Given the description of an element on the screen output the (x, y) to click on. 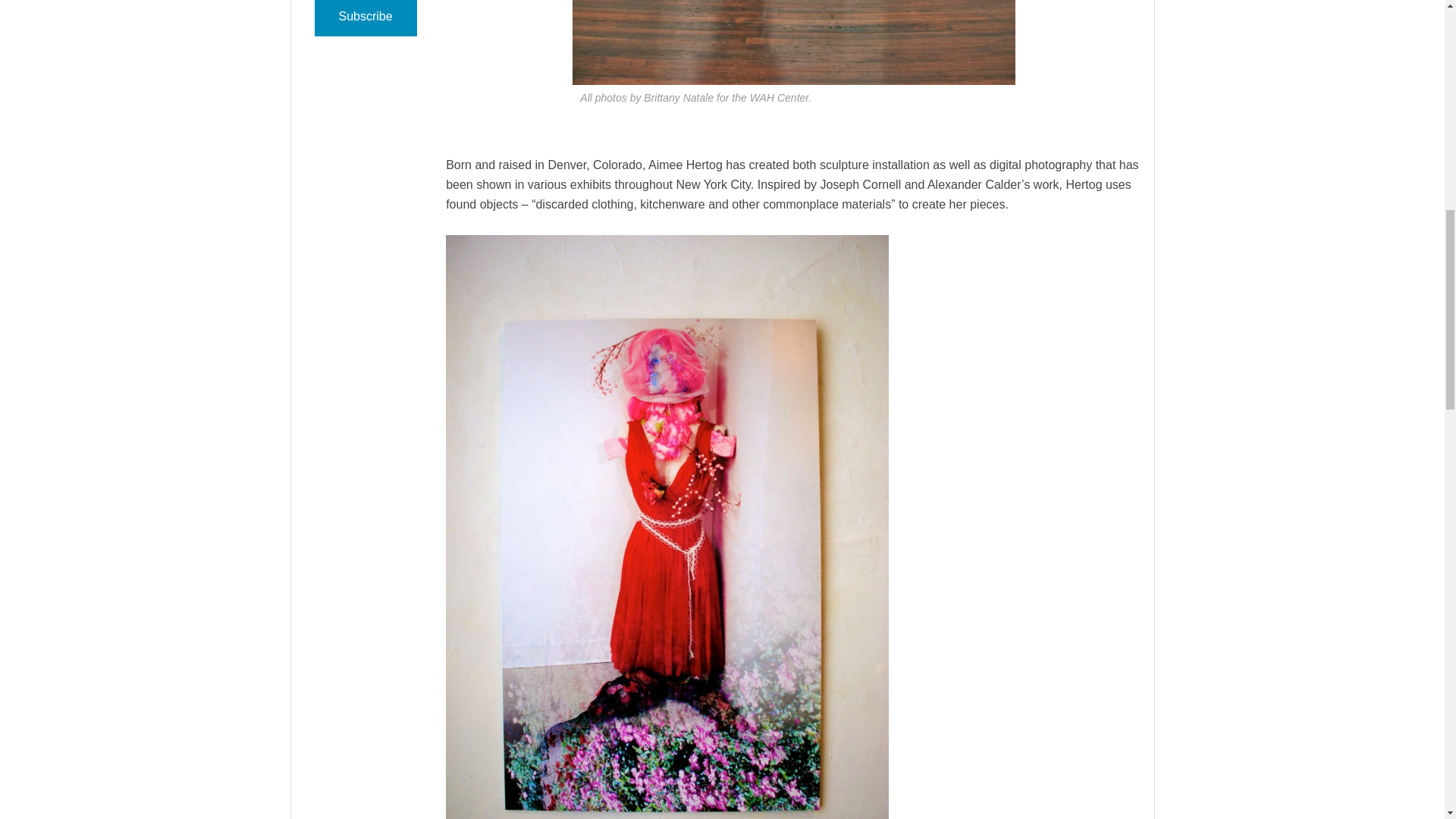
Subscribe (365, 18)
